Given the description of an element on the screen output the (x, y) to click on. 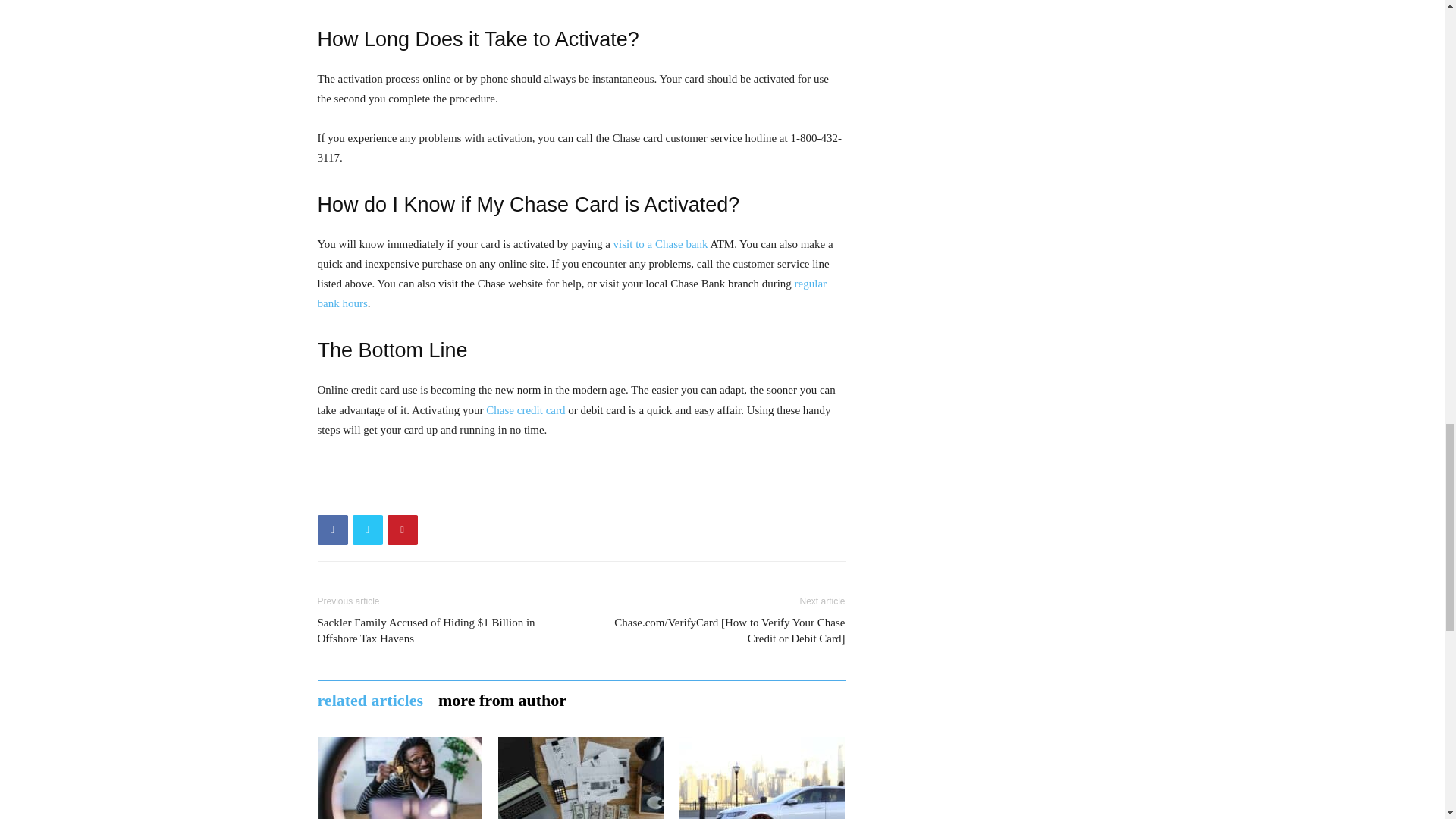
Twitter (366, 530)
Facebook (332, 530)
Pinterest (401, 530)
bottomFacebookLike (430, 496)
